Given the description of an element on the screen output the (x, y) to click on. 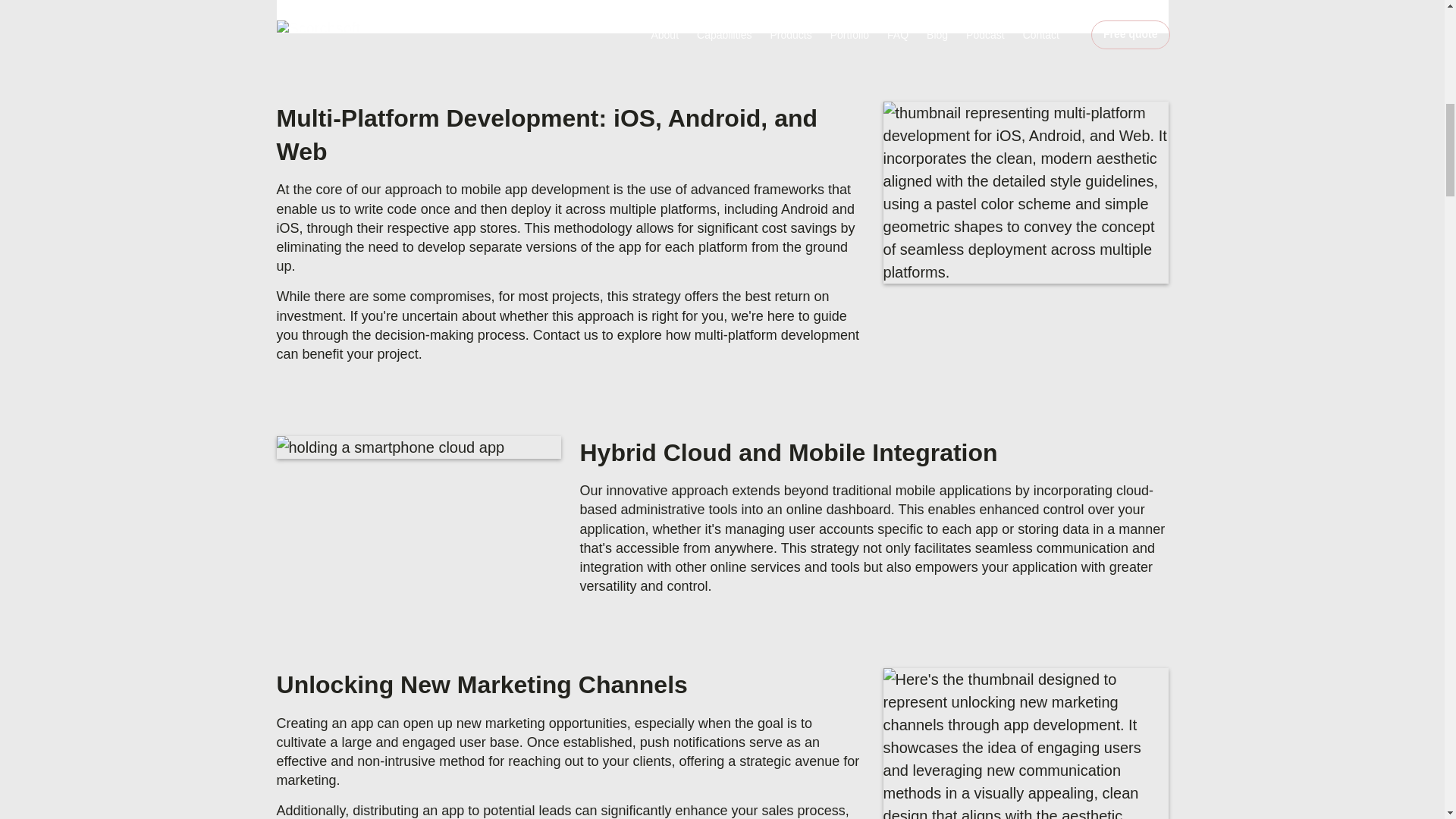
holding a smartphone cloud app (418, 446)
